Given the description of an element on the screen output the (x, y) to click on. 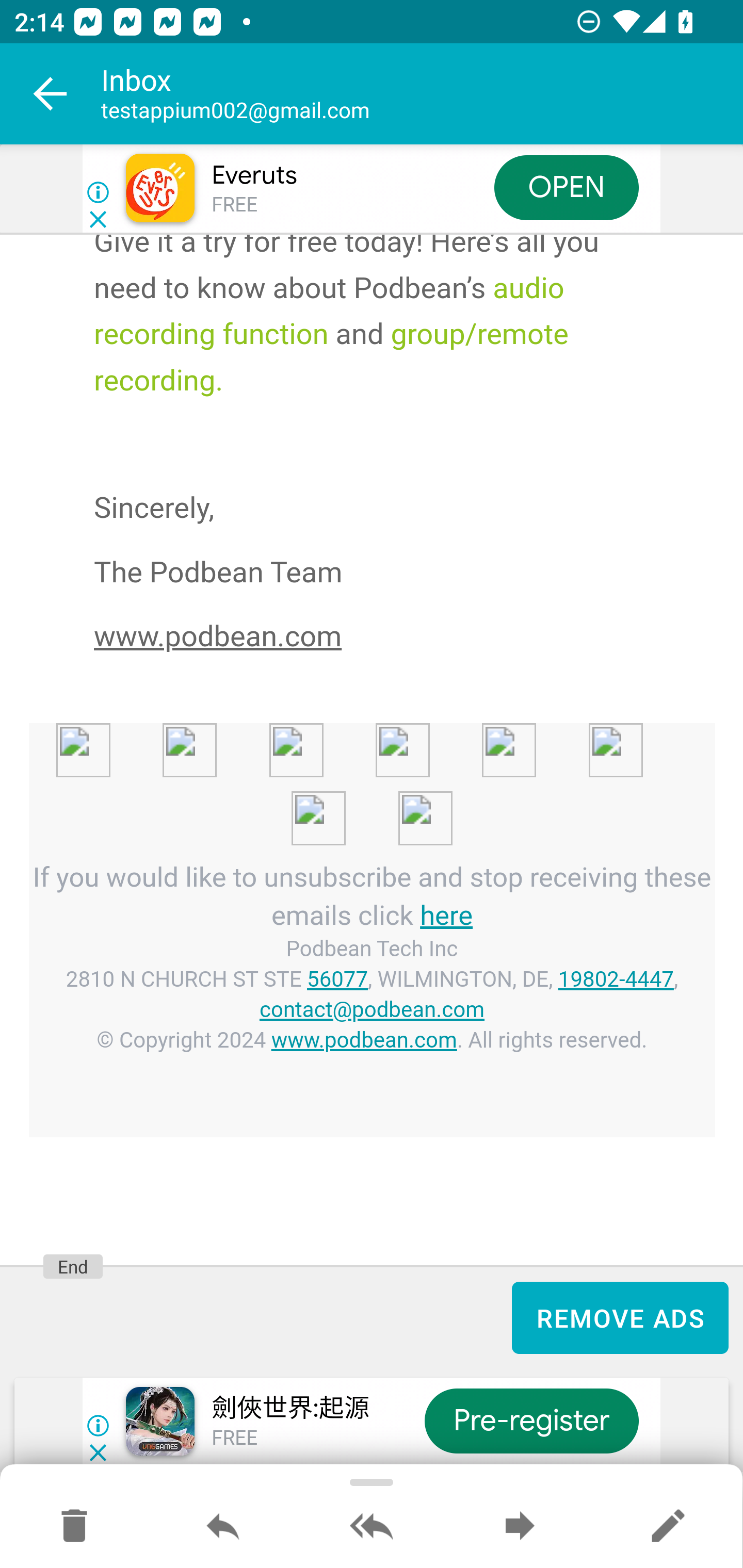
Navigate up (50, 93)
Inbox testappium002@gmail.com (422, 93)
OPEN (566, 187)
Everuts (253, 175)
FREE (234, 204)
audio recording function (328, 311)
group/remote recording. (330, 356)
www.podbean.com (218, 637)
www.podbean.com data: (105, 754)
www.podbean.com data: (212, 754)
www.podbean.com data: (318, 754)
www.podbean.com data: (425, 754)
www.podbean.com data: (530, 754)
www.facebook.com/groups data: (637, 754)
blog.podbean.com data: (340, 821)
podcast.podbean.com data: (425, 821)
here (446, 915)
56077 (338, 979)
19802-4447 (615, 979)
contact@podbean.com (371, 1010)
www.podbean.com (364, 1040)
REMOVE ADS (619, 1317)
Pre-register (530, 1421)
劍俠世界:起源 (289, 1409)
FREE (234, 1438)
Move to Deleted (74, 1527)
Reply (222, 1527)
Reply all (371, 1527)
Forward (519, 1527)
Reply as new (667, 1527)
